Given the description of an element on the screen output the (x, y) to click on. 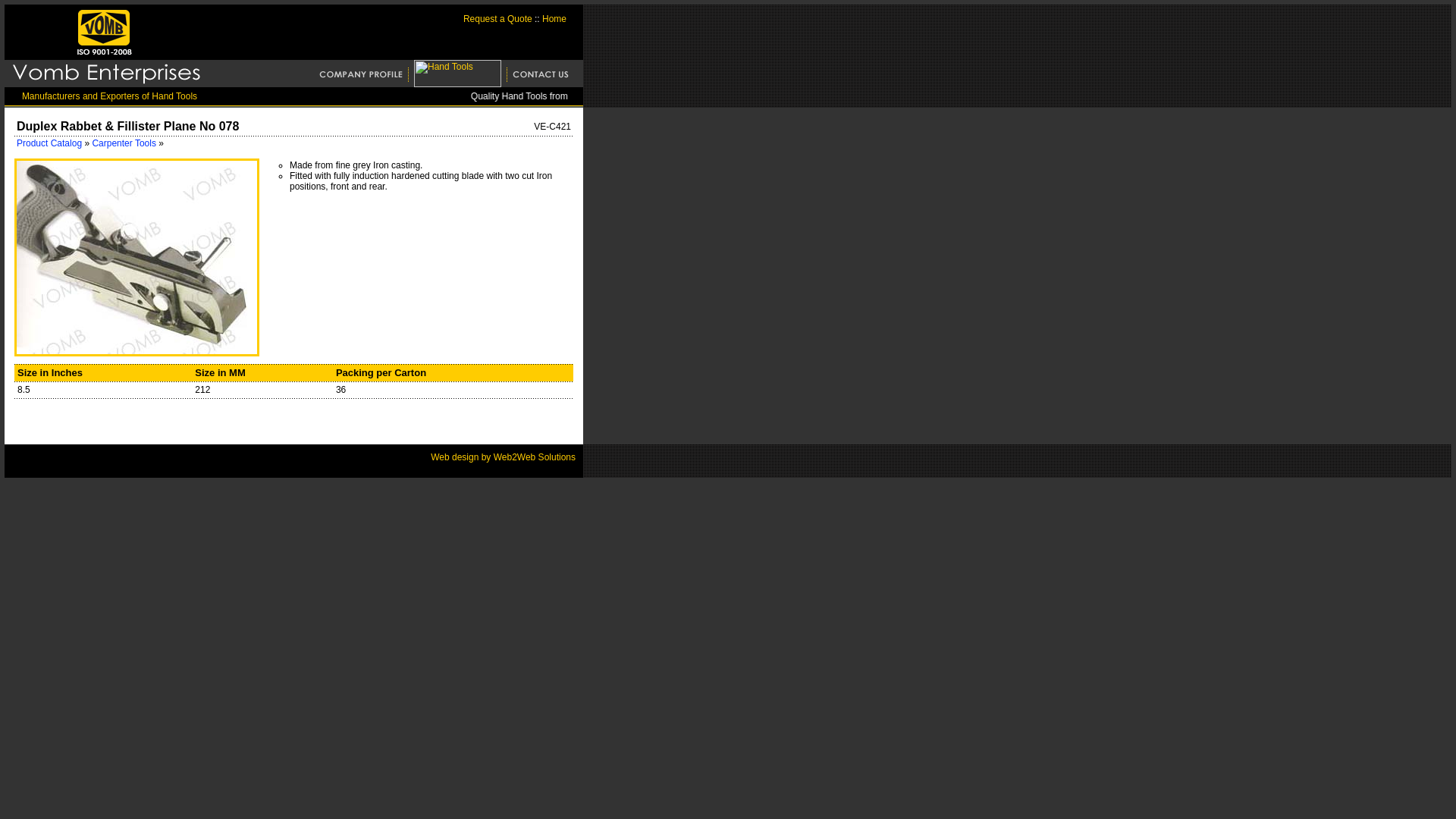
Web design (454, 457)
Product Catalog (48, 143)
by Web2Web Solutions (527, 457)
Home (553, 18)
Request a Quote (497, 18)
Carpenter Tools (124, 143)
